Given the description of an element on the screen output the (x, y) to click on. 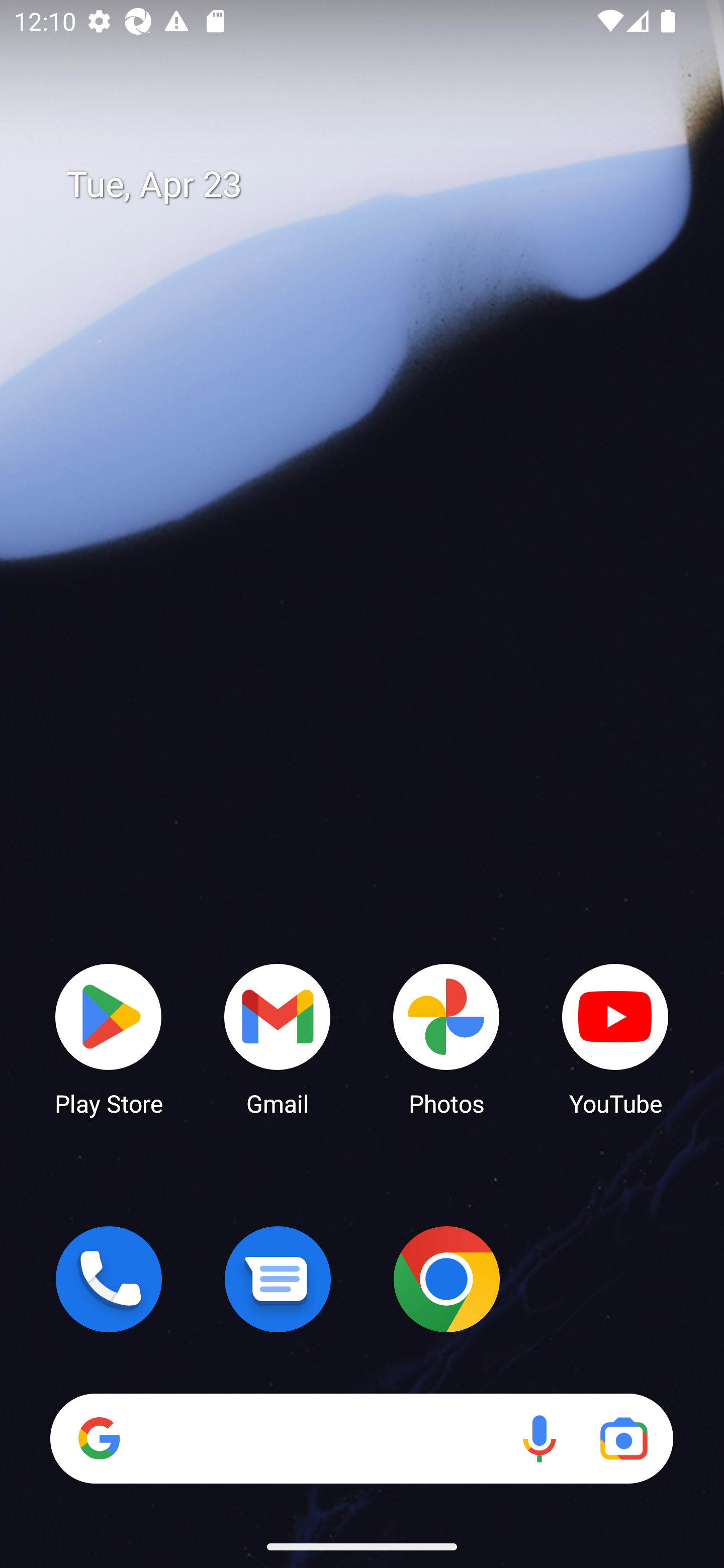
Tue, Apr 23 (375, 184)
Play Store (108, 1038)
Gmail (277, 1038)
Photos (445, 1038)
YouTube (615, 1038)
Phone (108, 1279)
Messages (277, 1279)
Chrome (446, 1279)
Search Voice search Google Lens (361, 1438)
Voice search (539, 1438)
Google Lens (623, 1438)
